Given the description of an element on the screen output the (x, y) to click on. 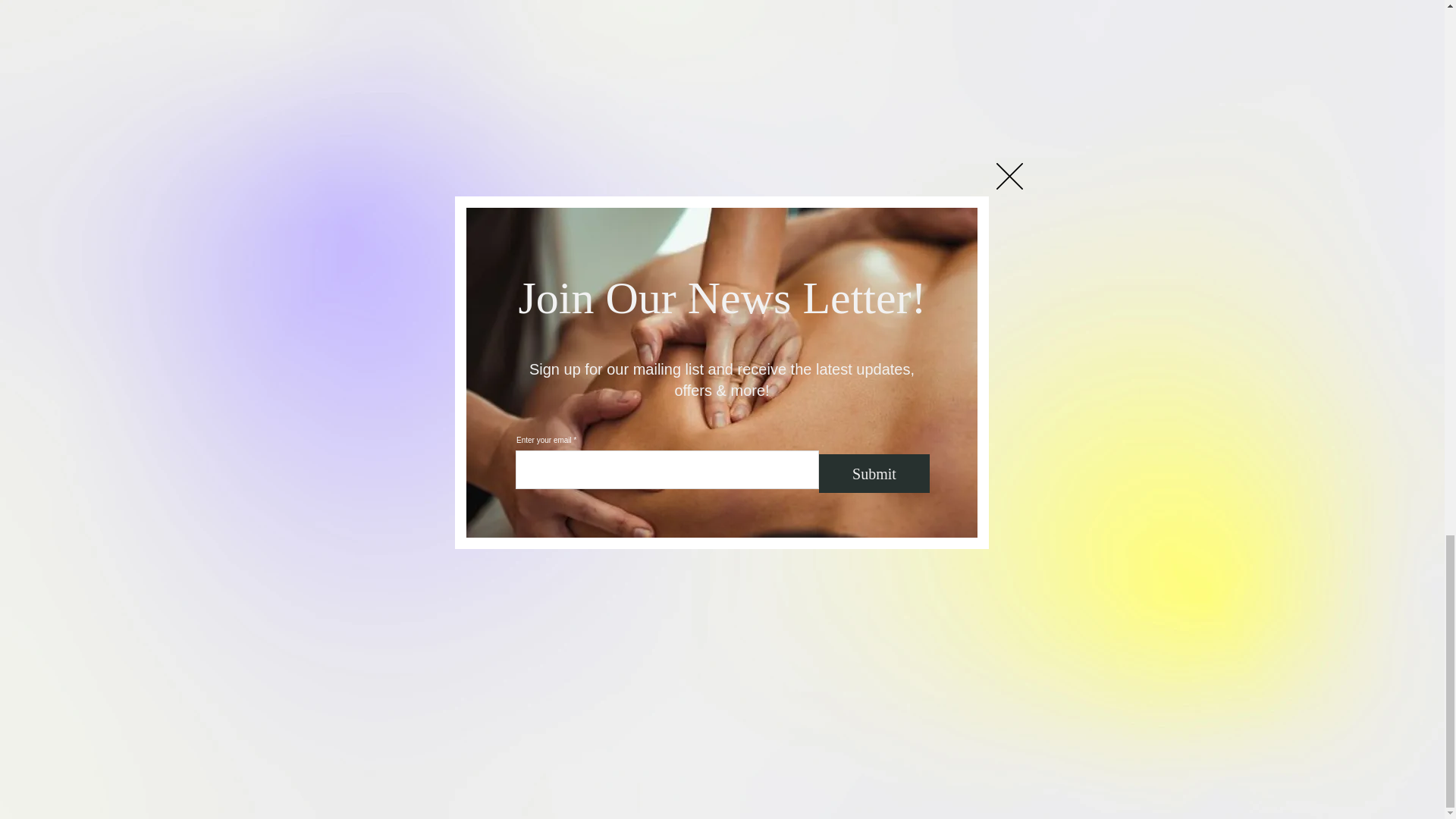
See All (1061, 325)
How to Create Your Life Rather than Your Life Creating You (967, 509)
0 (926, 562)
Post not marked as liked (555, 562)
Post not marked as liked (1050, 562)
Post not marked as liked (804, 562)
Contact Collection (995, 242)
0 (721, 717)
0 (440, 562)
